Given the description of an element on the screen output the (x, y) to click on. 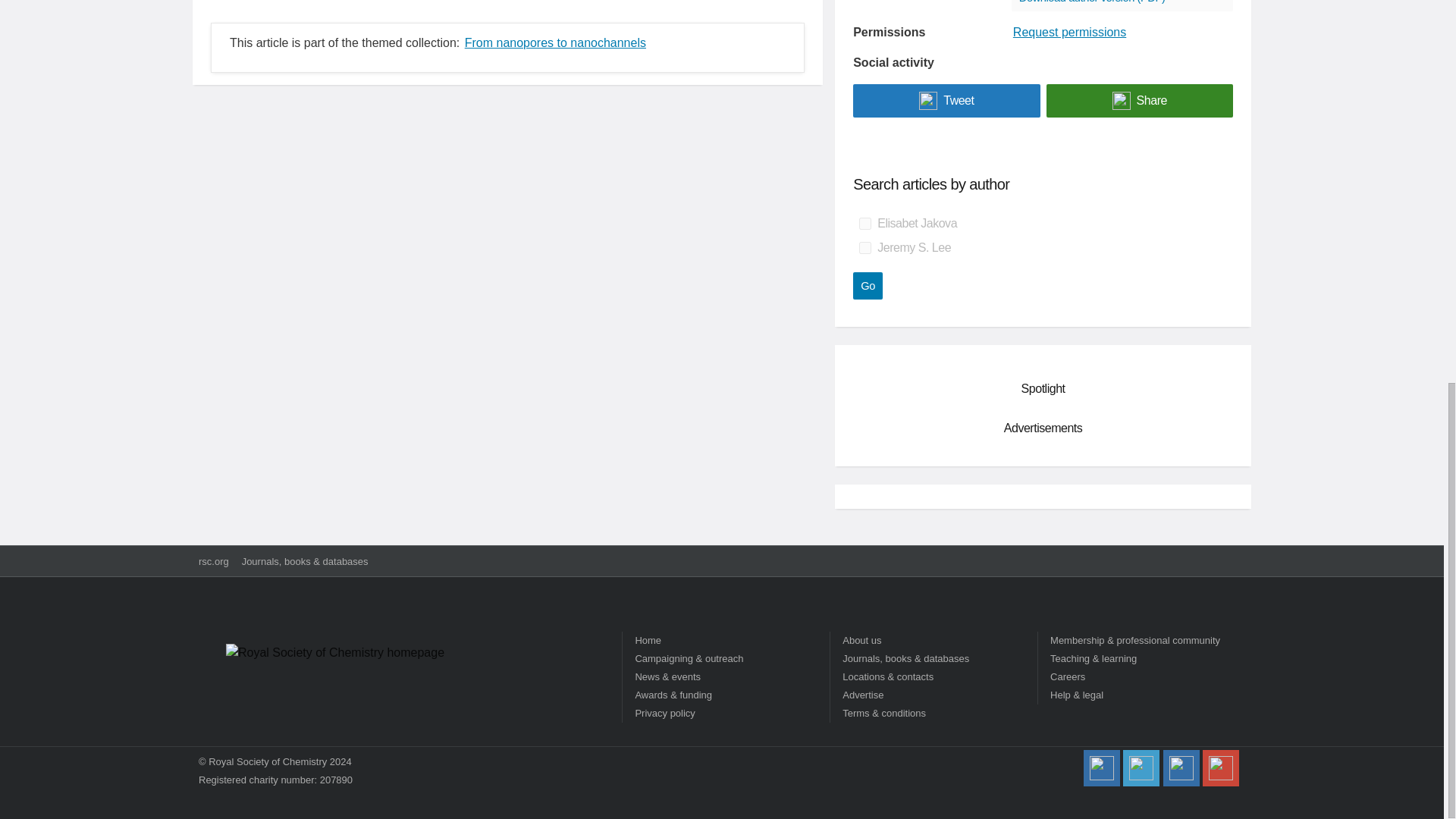
Request permissions (1068, 32)
From nanopores to nanochannels (555, 42)
Go (867, 285)
on (864, 223)
Go (867, 285)
on (864, 247)
